Given the description of an element on the screen output the (x, y) to click on. 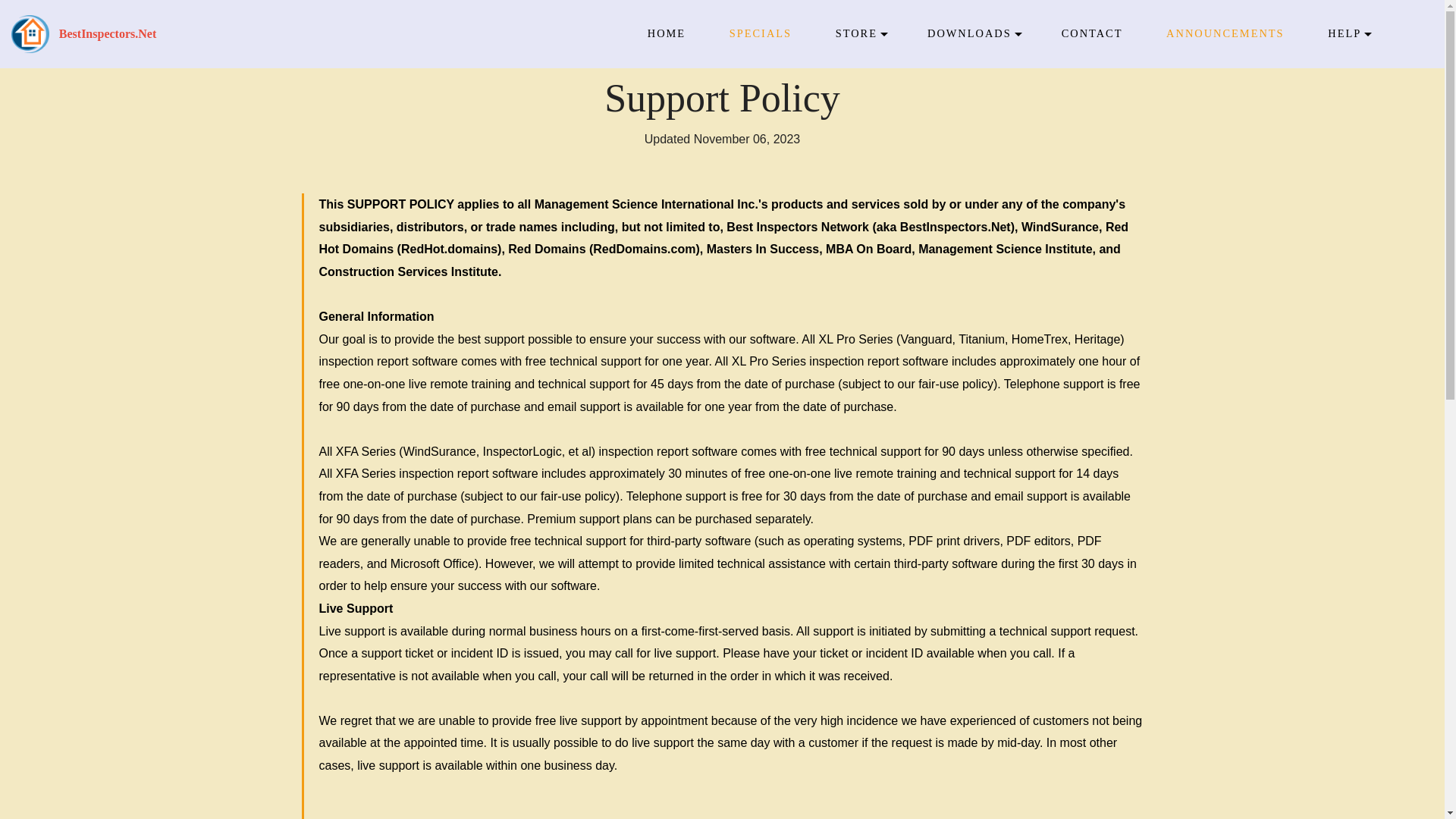
ANNOUNCEMENTS (1225, 33)
DOWNLOADS (969, 33)
STORE (856, 33)
HELP (1344, 33)
CONTACT (1091, 33)
BestInspectors.Net (107, 34)
HOME (666, 33)
SPECIALS (760, 33)
Best Inspectors Network (30, 34)
